Given the description of an element on the screen output the (x, y) to click on. 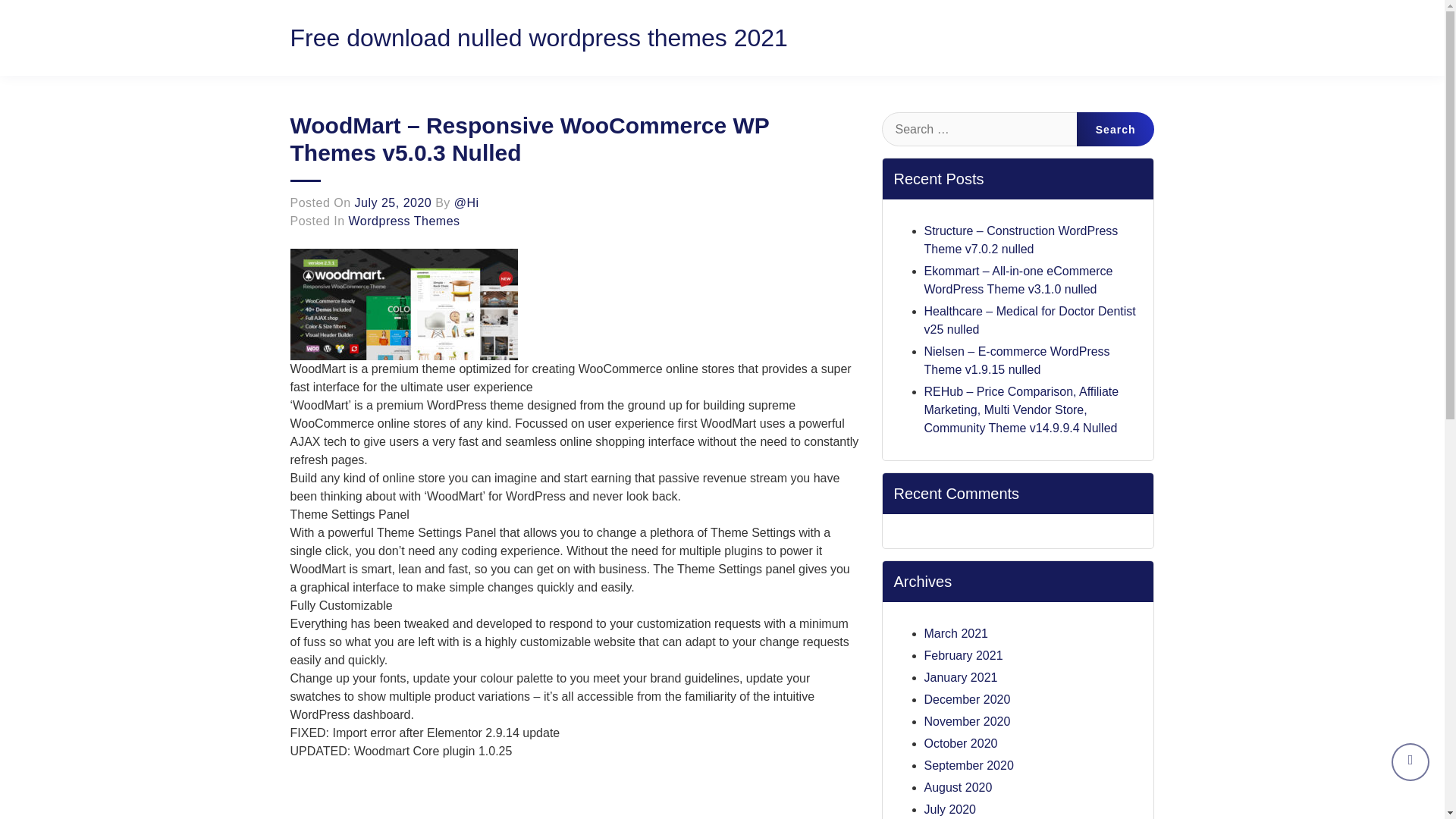
March 2021 (955, 633)
October 2020 (960, 743)
February 2021 (963, 655)
Search (1115, 129)
July 2020 (949, 809)
December 2020 (966, 698)
Free download nulled wordpress themes 2021 (538, 37)
July 25, 2020 (393, 202)
Search (1115, 129)
Wordpress Themes (404, 220)
Search (1115, 129)
September 2020 (968, 765)
January 2021 (960, 676)
November 2020 (966, 721)
August 2020 (957, 787)
